Given the description of an element on the screen output the (x, y) to click on. 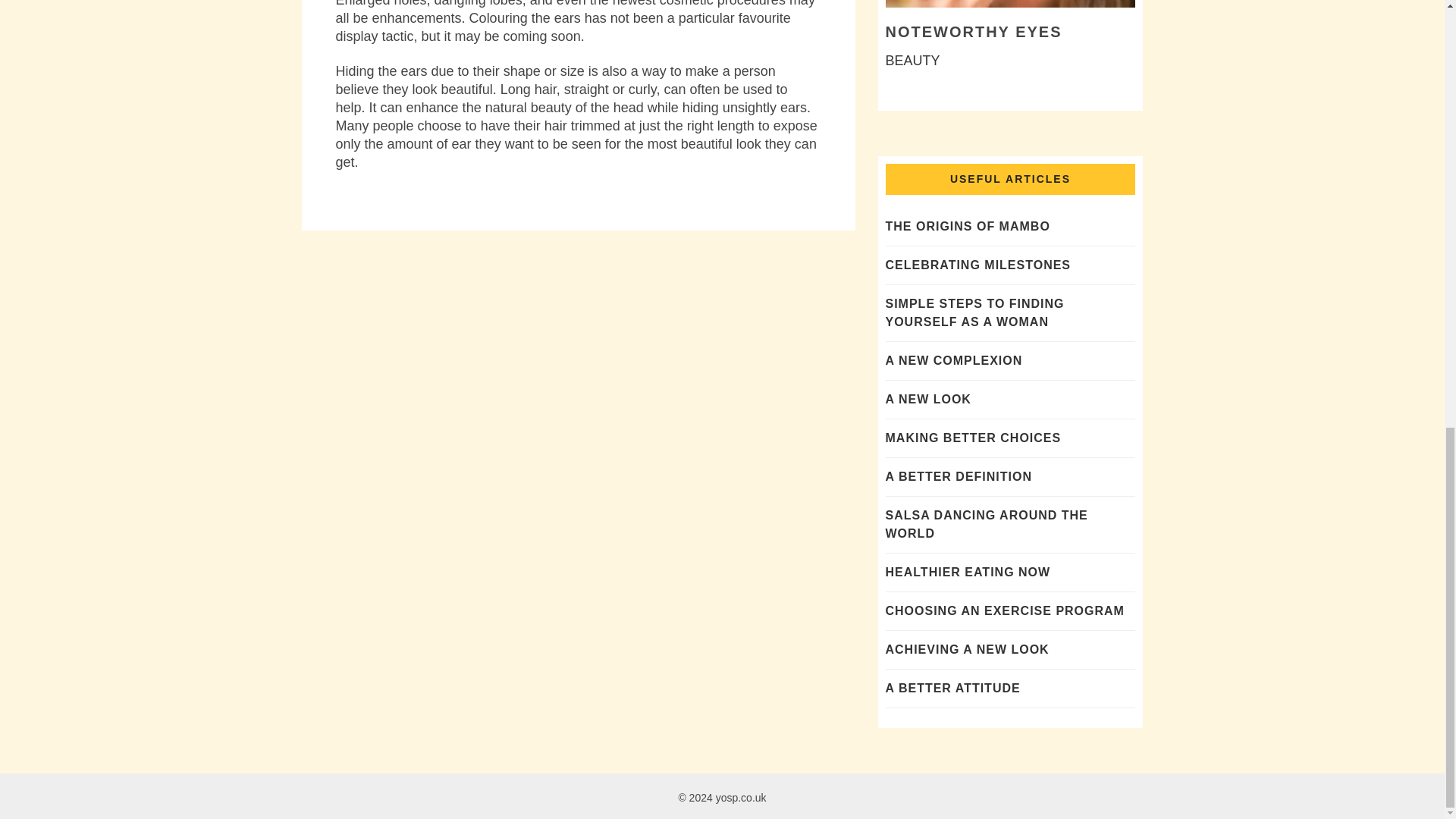
SALSA DANCING AROUND THE WORLD (986, 523)
A NEW LOOK (928, 399)
BEAUTY (912, 60)
THE ORIGINS OF MAMBO (967, 226)
CHOOSING AN EXERCISE PROGRAM (1004, 610)
SIMPLE STEPS TO FINDING YOURSELF AS A WOMAN (974, 312)
CELEBRATING MILESTONES (978, 264)
ACHIEVING A NEW LOOK (967, 649)
A NEW COMPLEXION (954, 359)
A BETTER ATTITUDE (952, 687)
MAKING BETTER CHOICES (973, 437)
A BETTER DEFINITION (958, 476)
NOTEWORTHY EYES (973, 31)
HEALTHIER EATING NOW (968, 571)
